Given the description of an element on the screen output the (x, y) to click on. 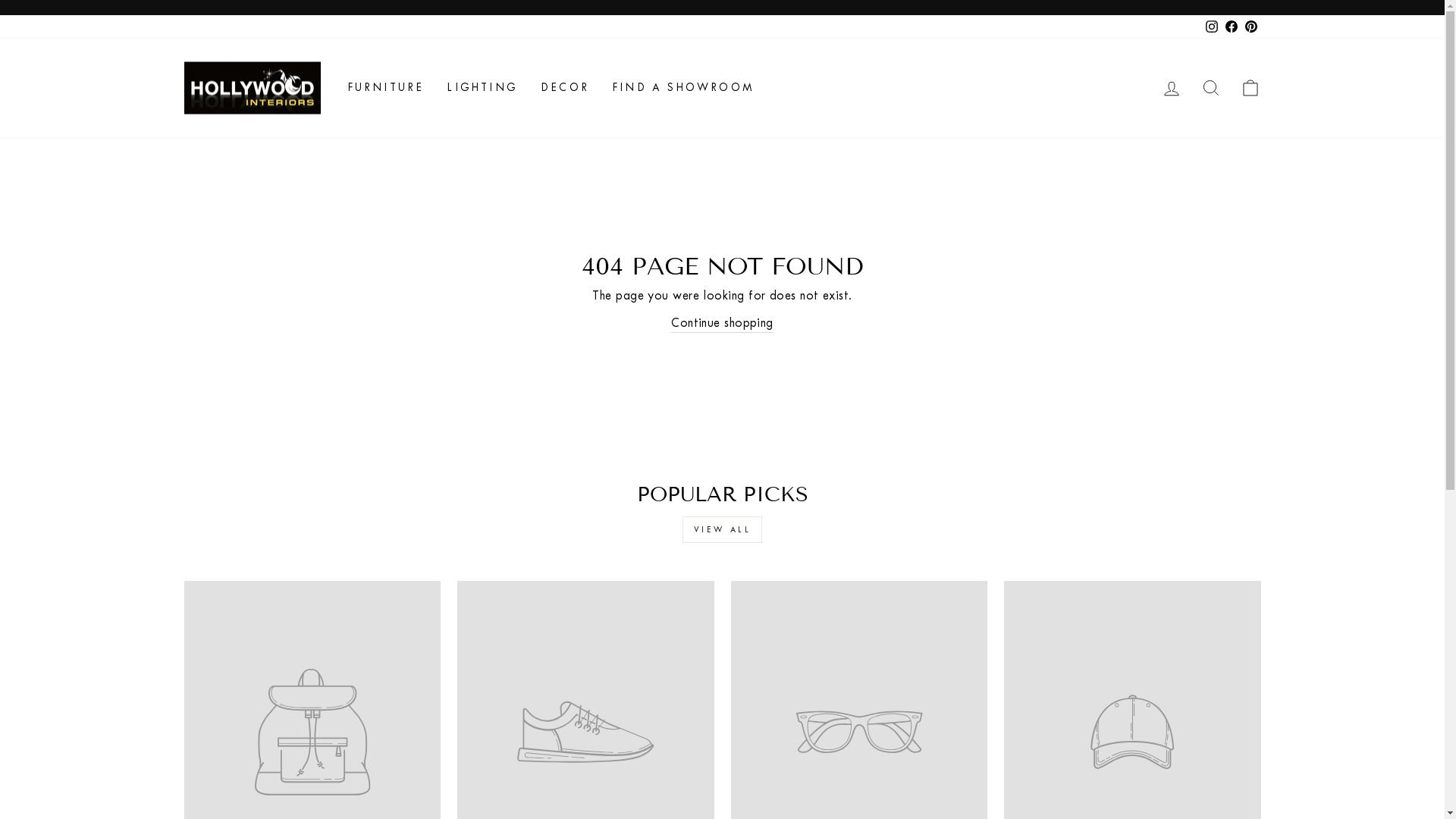
Pinterest Element type: text (1250, 26)
VIEW ALL Element type: text (722, 529)
Instagram Element type: text (1210, 26)
Facebook Element type: text (1230, 26)
FIND A SHOWROOM Element type: text (682, 87)
FURNITURE Element type: text (385, 87)
Skip to content Element type: text (0, 0)
Continue shopping Element type: text (722, 322)
LOG IN Element type: text (1170, 88)
LIGHTING Element type: text (482, 87)
SEARCH Element type: text (1210, 88)
CART Element type: text (1249, 88)
DECOR Element type: text (564, 87)
